Given the description of an element on the screen output the (x, y) to click on. 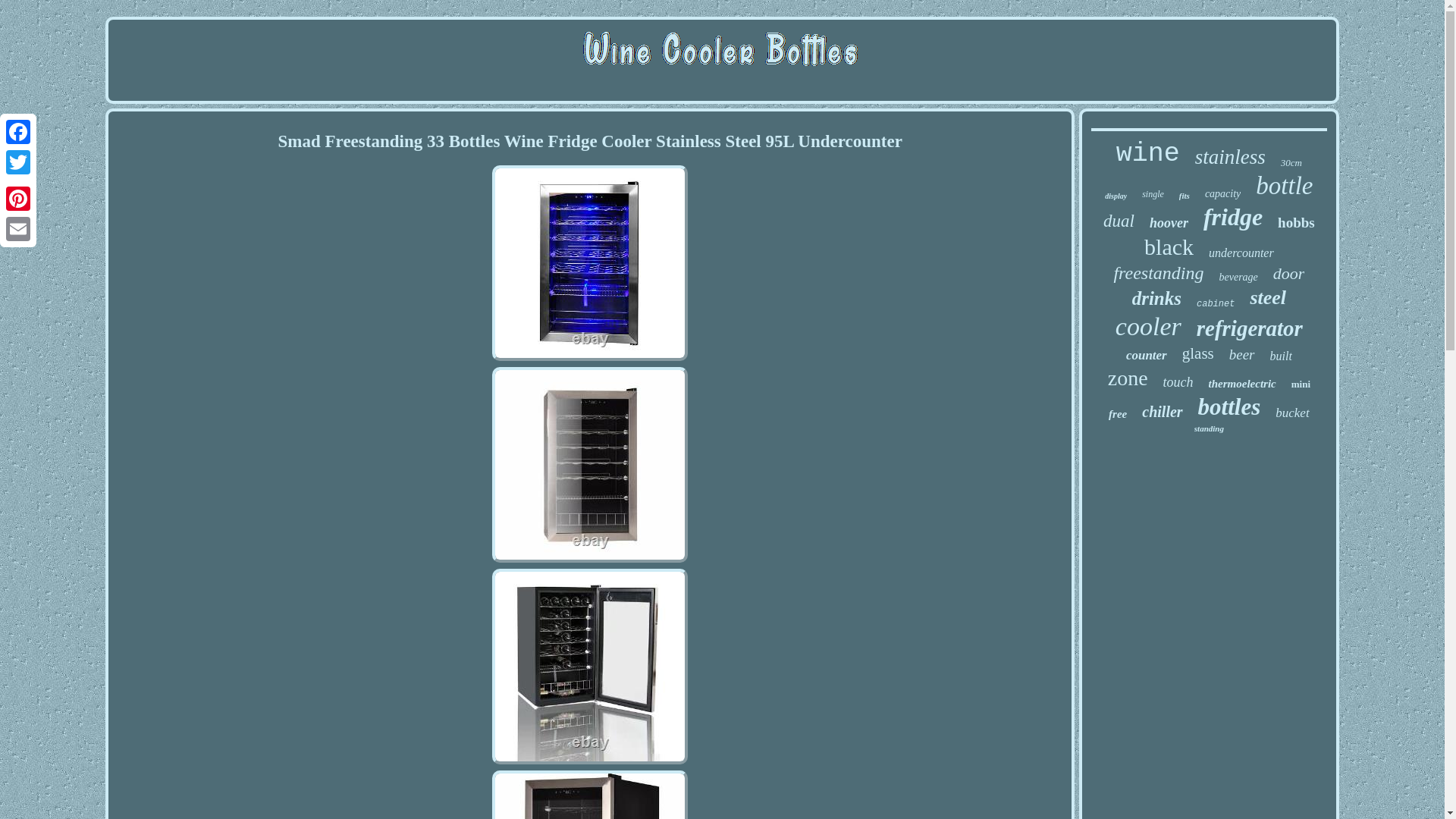
Twitter (17, 162)
30cm (1291, 162)
drinks (1156, 298)
freestanding (1158, 272)
black (1168, 247)
hobbs (1296, 222)
zone (1128, 378)
stainless (1230, 156)
Facebook (17, 132)
steel (1267, 297)
cooler (1147, 326)
beer (1241, 354)
Email (17, 228)
